Given the description of an element on the screen output the (x, y) to click on. 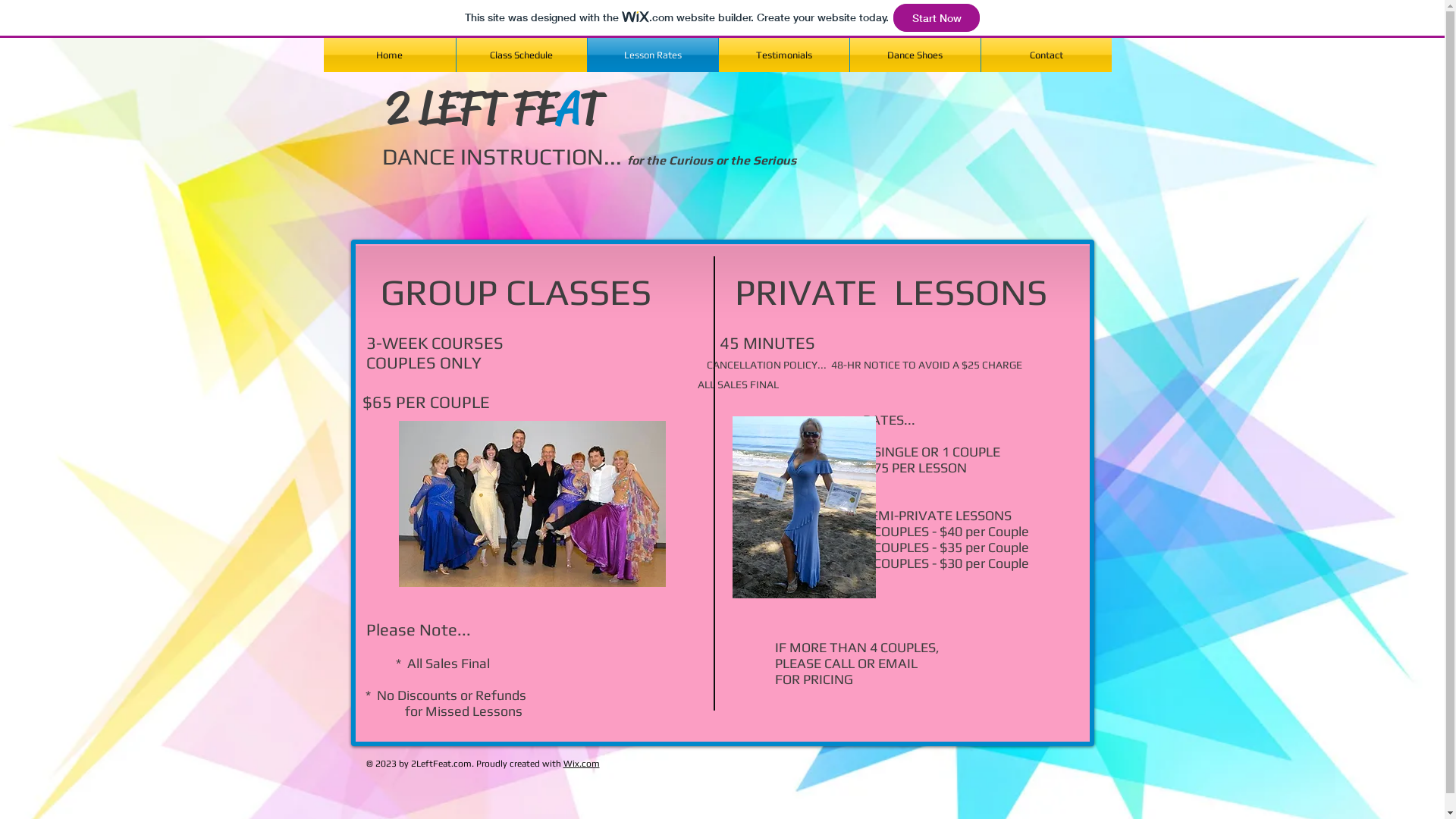
Lesson Rates Element type: text (651, 54)
Am Couples - Cropped.jpg Element type: hover (531, 503)
Wix.com Element type: text (580, 763)
Dance Shoes Element type: text (914, 54)
SSB2012 - Art.jpg Element type: hover (803, 507)
Contact Element type: text (1046, 54)
Home Element type: text (389, 54)
Testimonials Element type: text (783, 54)
Class Schedule Element type: text (521, 54)
